Given the description of an element on the screen output the (x, y) to click on. 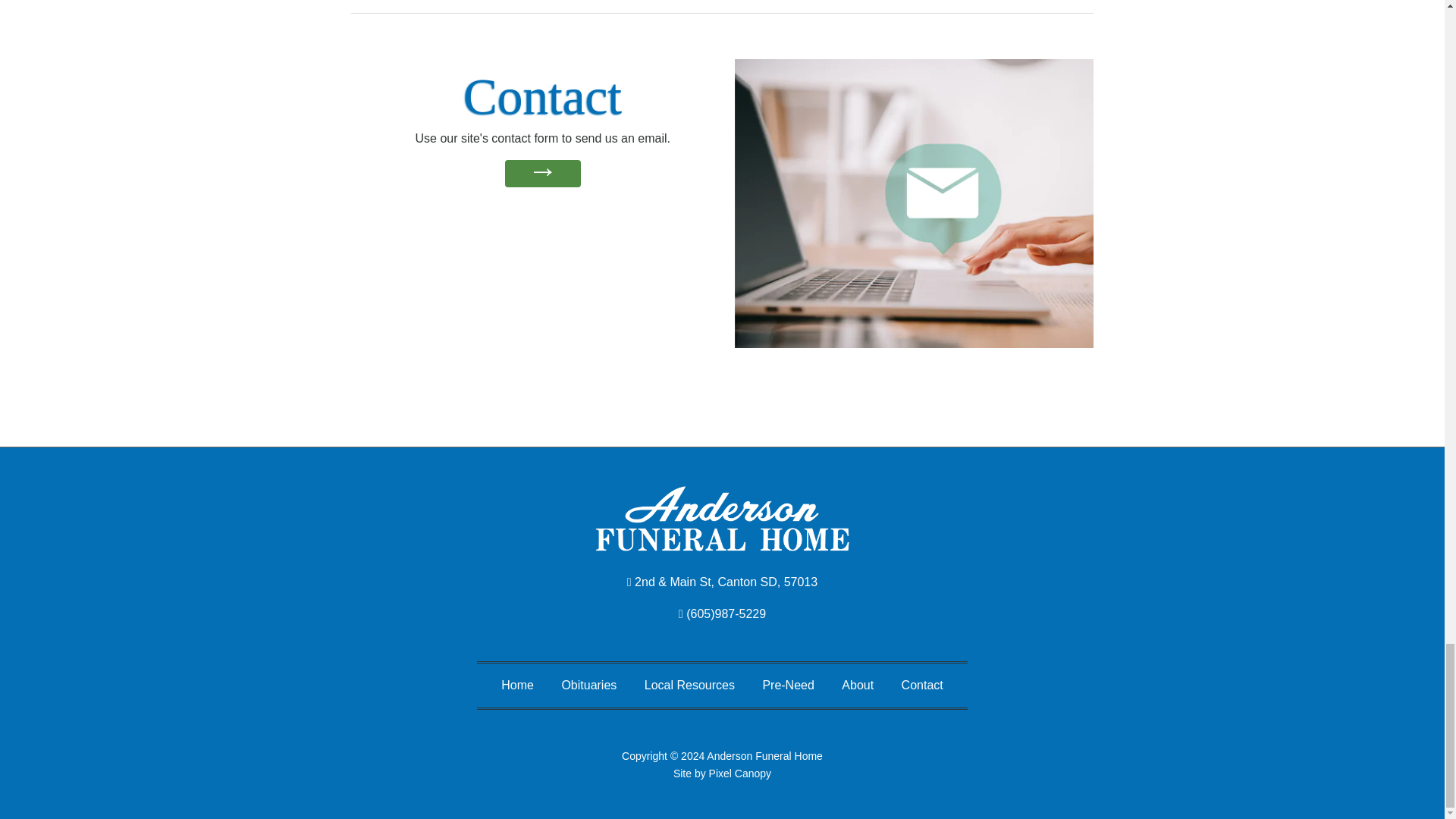
Obituaries (587, 679)
Home (517, 679)
Local Resources (690, 679)
Pre-Need (787, 679)
